Given the description of an element on the screen output the (x, y) to click on. 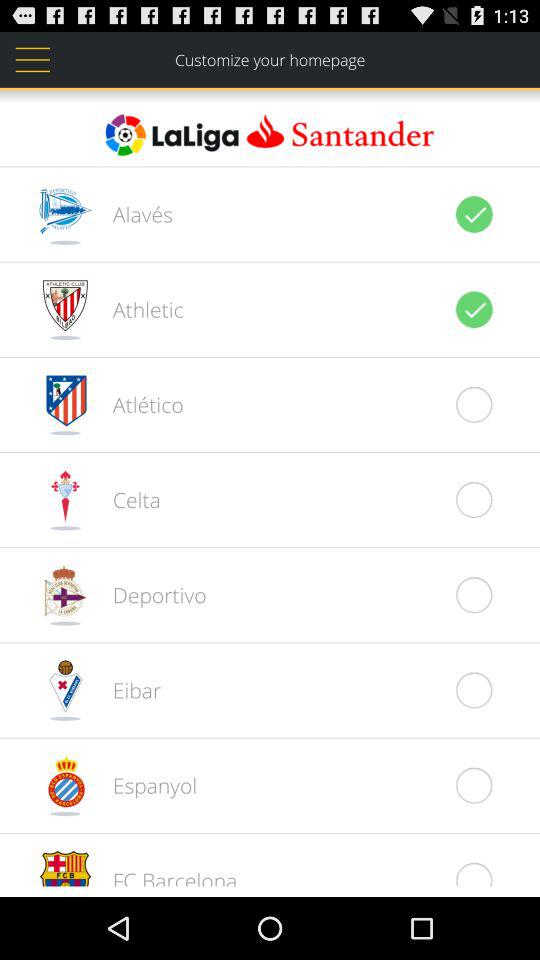
click eibar item (126, 690)
